Given the description of an element on the screen output the (x, y) to click on. 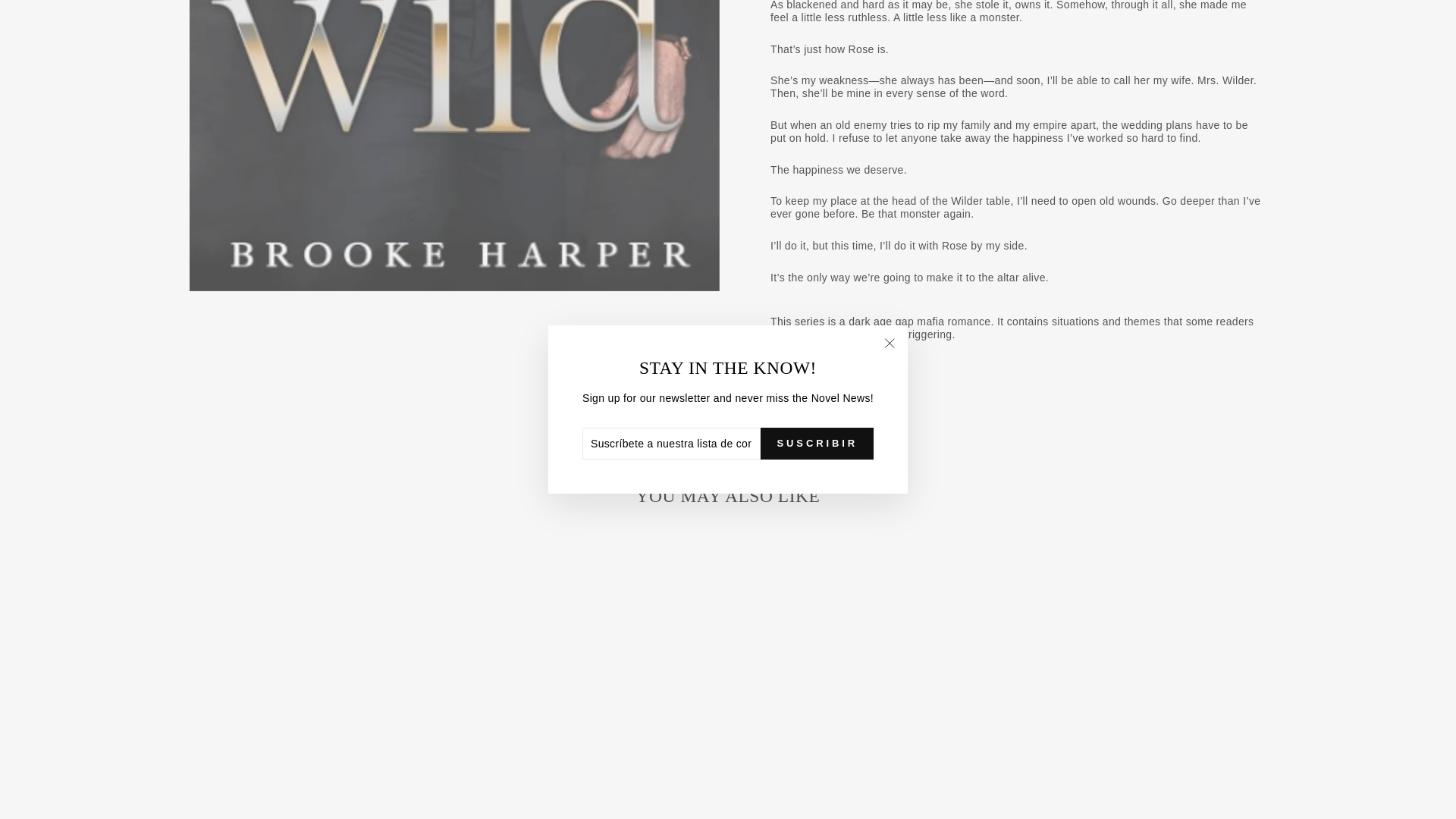
Tuitear en Twitter (728, 423)
